Given the description of an element on the screen output the (x, y) to click on. 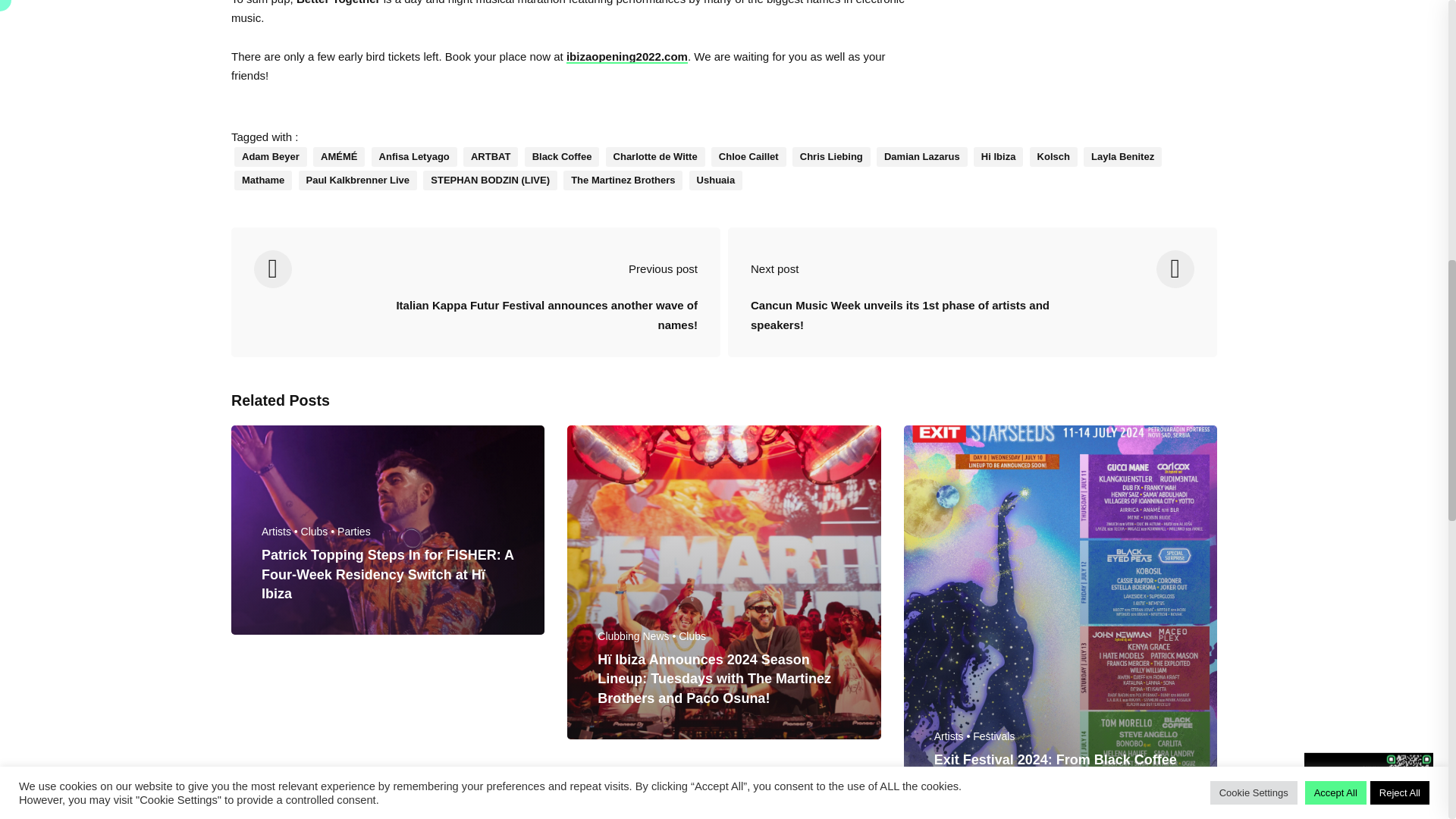
View posts from category (692, 635)
View posts from category (637, 635)
View posts from category (319, 531)
View posts from category (993, 736)
View posts from category (281, 531)
View posts from category (954, 736)
View posts from category (354, 531)
